Given the description of an element on the screen output the (x, y) to click on. 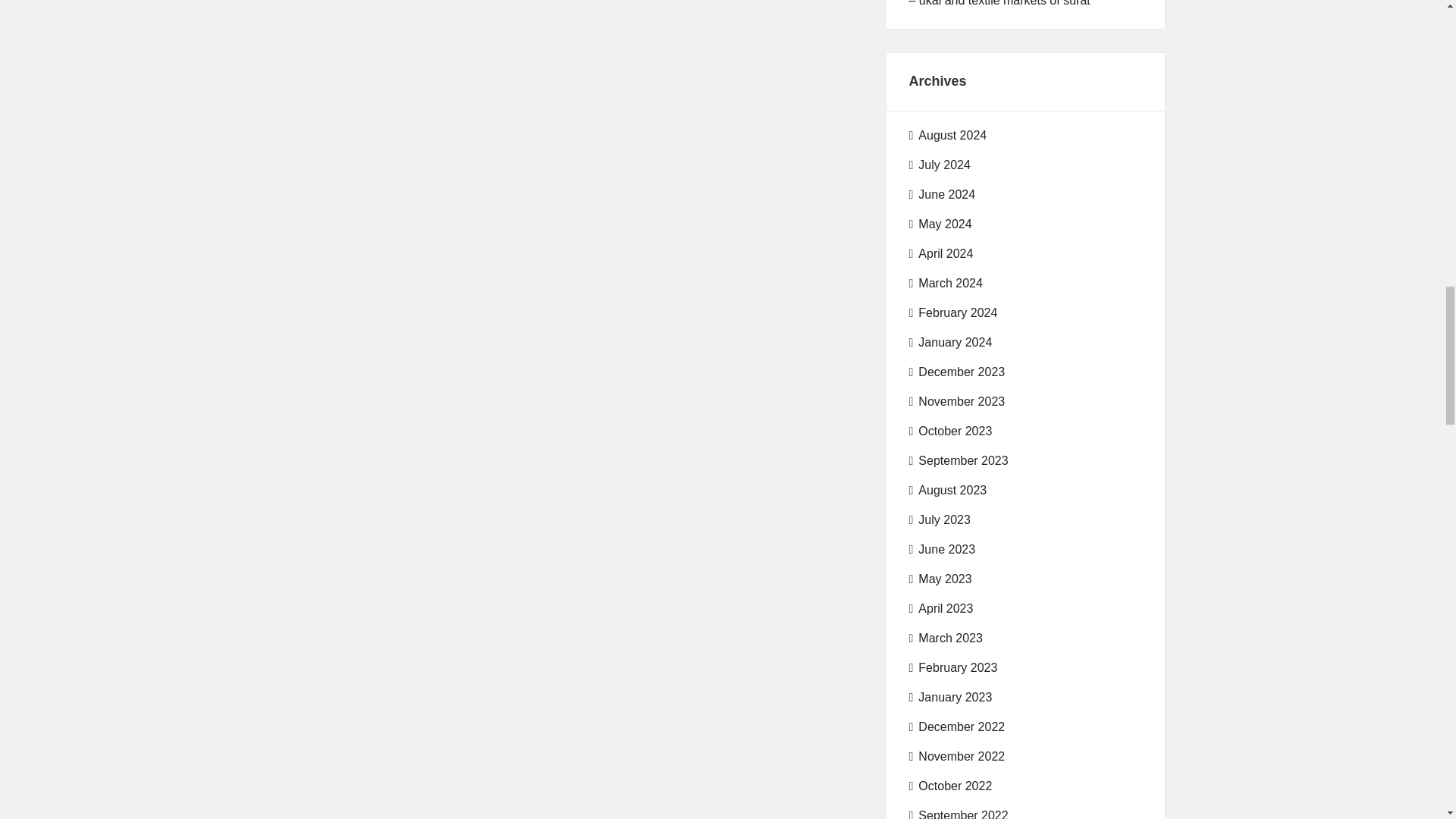
January 2024 (949, 342)
August 2024 (947, 135)
July 2024 (938, 165)
October 2023 (949, 431)
August 2023 (947, 490)
February 2024 (952, 312)
April 2024 (940, 253)
May 2024 (939, 224)
March 2024 (944, 283)
November 2023 (956, 402)
